Given the description of an element on the screen output the (x, y) to click on. 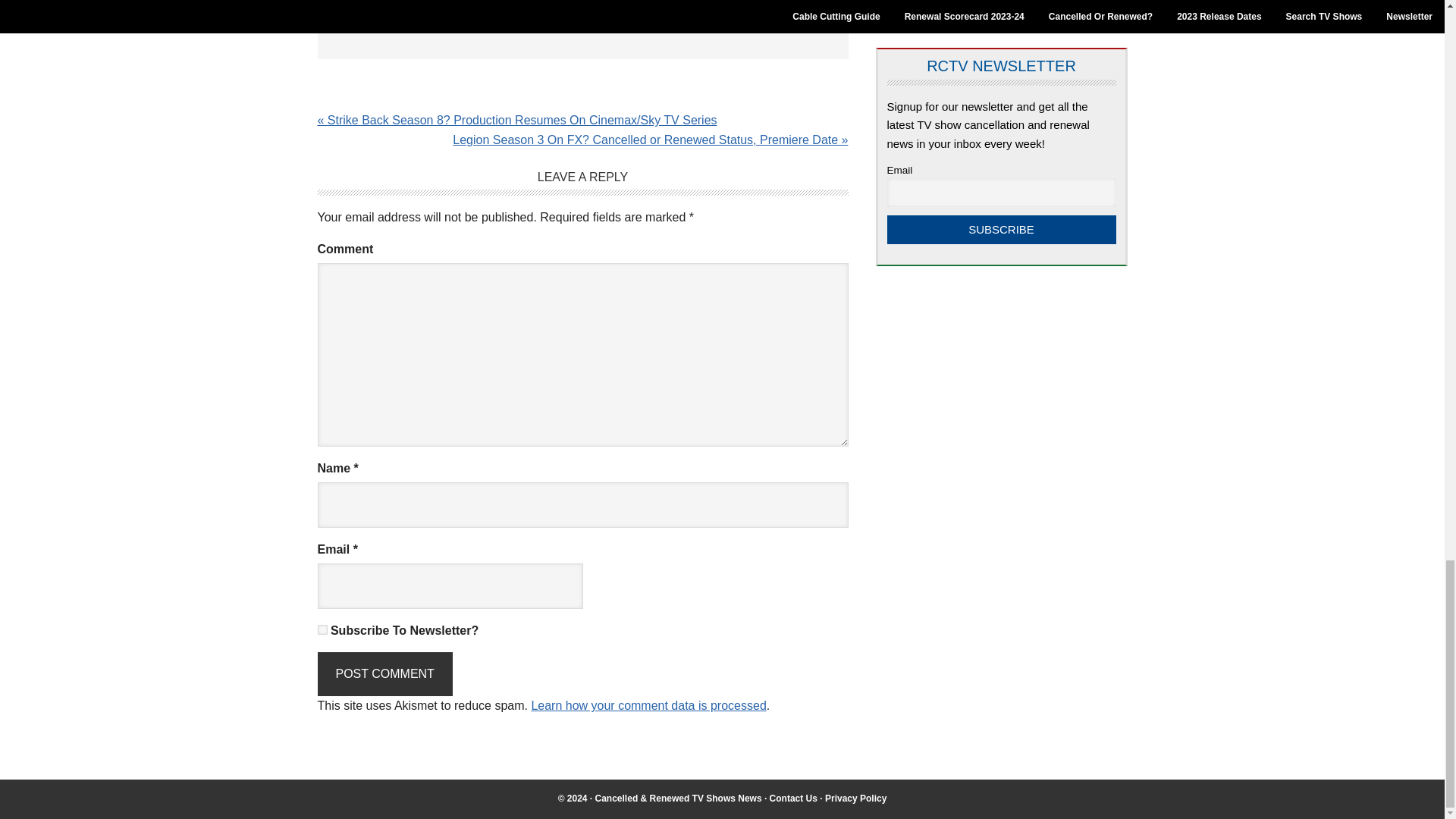
Cancelled Or Renewed? (956, 4)
RenewCancelTV (678, 798)
1 (321, 629)
Post Comment (384, 673)
Subscribe (1001, 229)
